Given the description of an element on the screen output the (x, y) to click on. 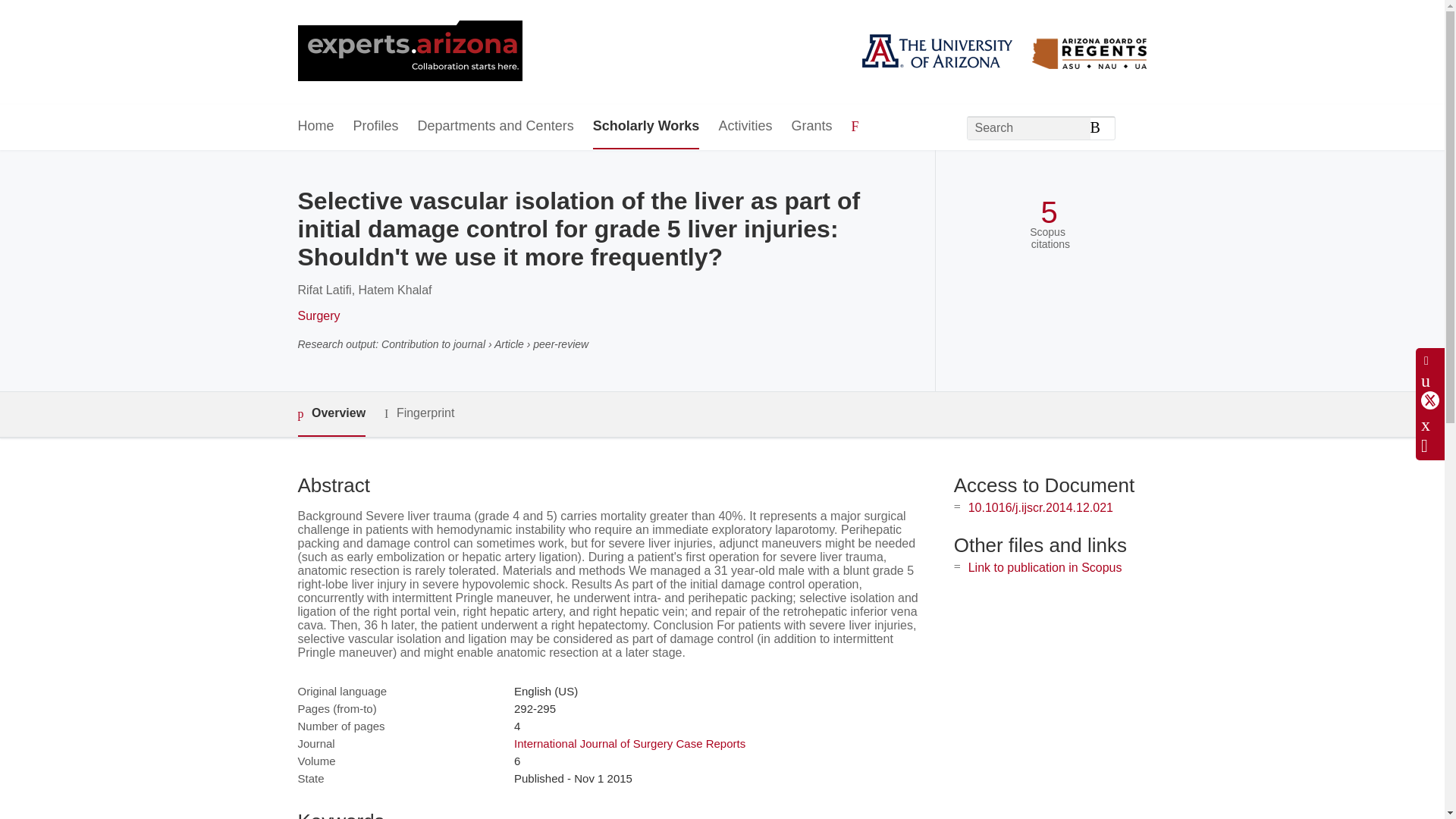
Grants (810, 126)
Profiles (375, 126)
University of Arizona Home (409, 52)
Fingerprint (419, 413)
Link to publication in Scopus (1045, 567)
Overview (331, 414)
Departments and Centers (495, 126)
Activities (744, 126)
International Journal of Surgery Case Reports (629, 743)
